Given the description of an element on the screen output the (x, y) to click on. 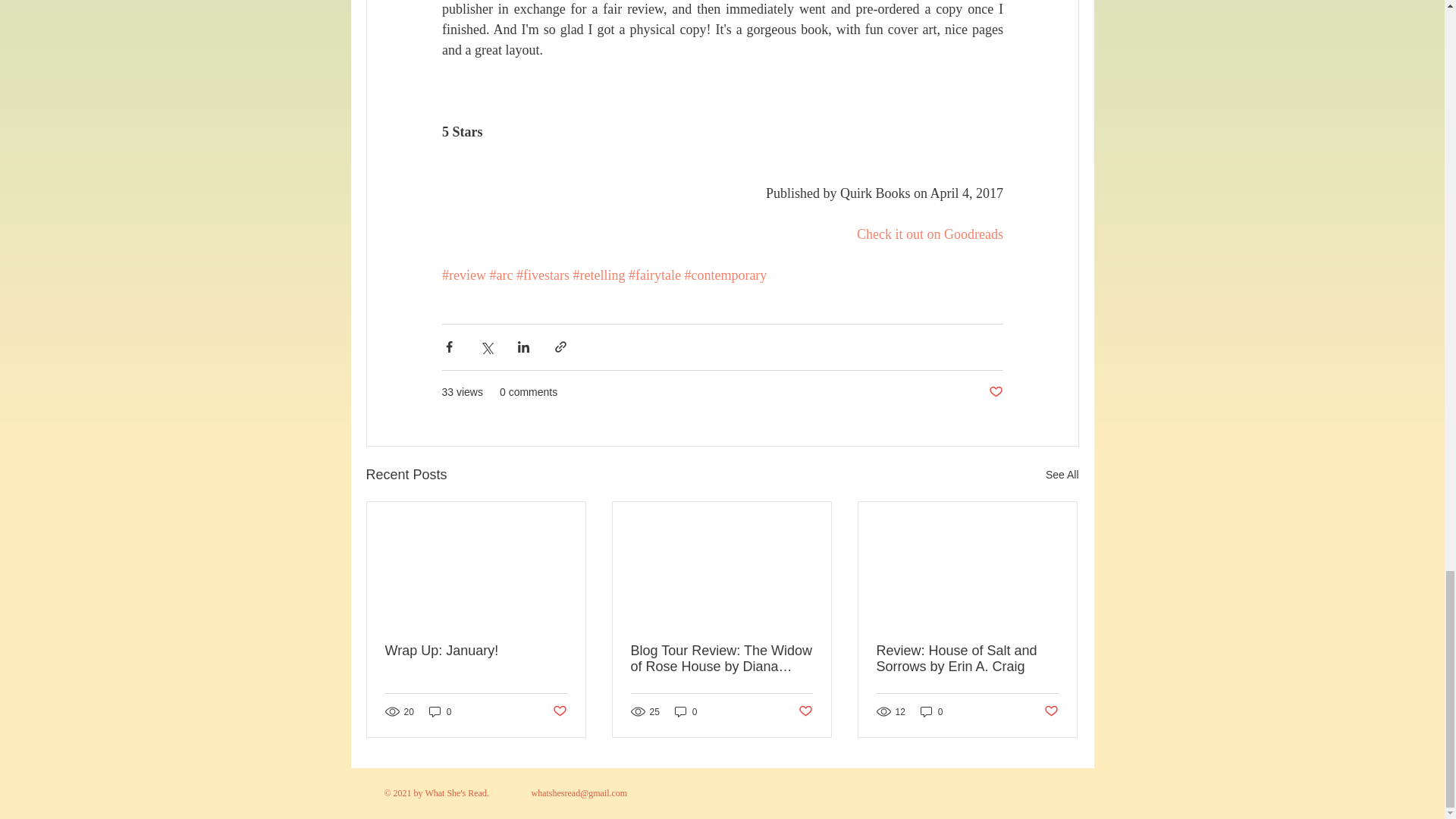
Check it out on Goodreads (930, 233)
Blog Tour Review: The Widow of Rose House by Diana Biller (721, 658)
See All (1061, 475)
0 (685, 711)
Review: House of Salt and Sorrows by Erin A. Craig (967, 658)
Post not marked as liked (804, 711)
0 (440, 711)
Wrap Up: January! (476, 650)
Post not marked as liked (995, 392)
Post not marked as liked (558, 711)
